Given the description of an element on the screen output the (x, y) to click on. 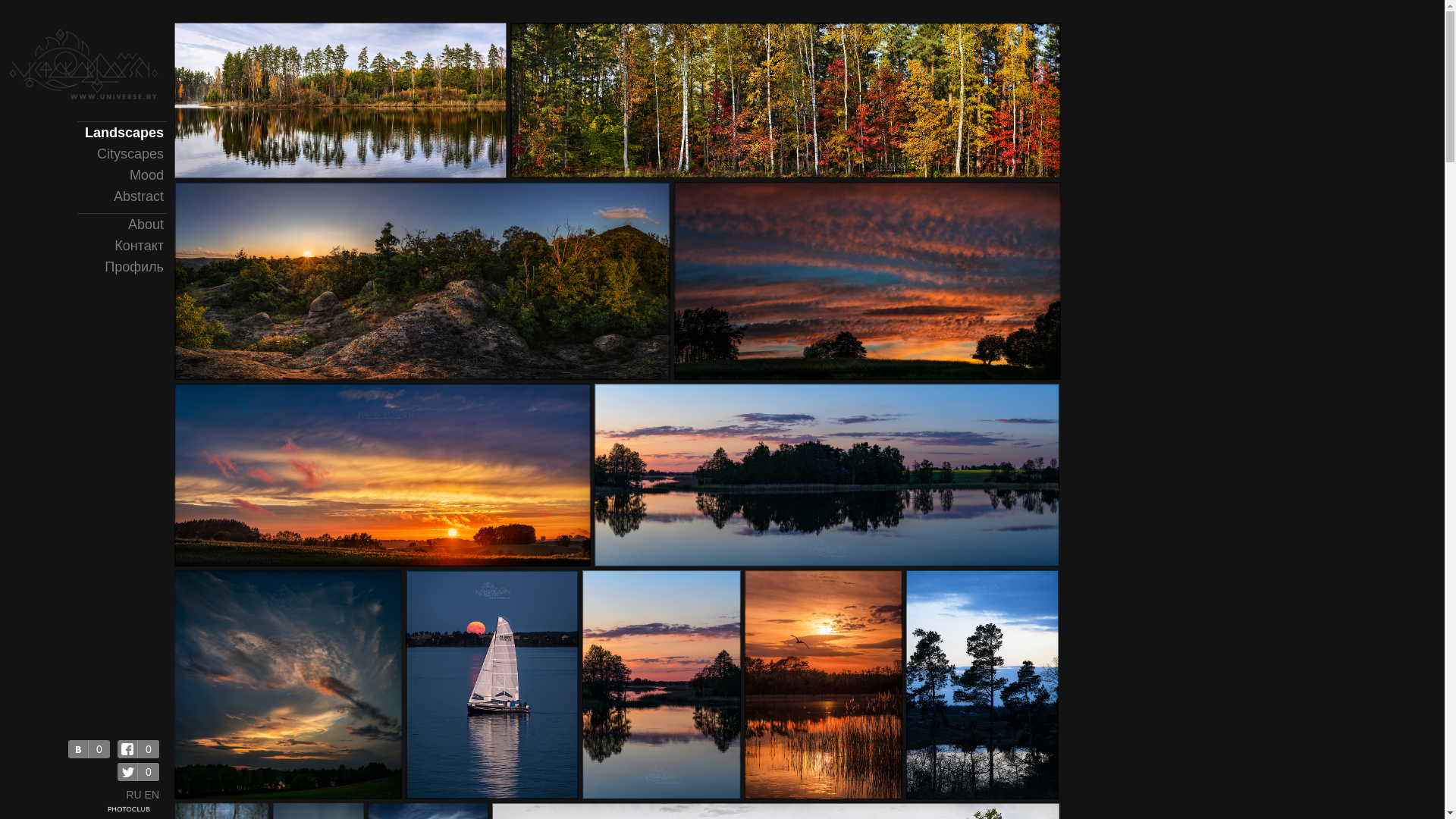
EN Element type: text (151, 794)
Mood Element type: text (124, 174)
0 Element type: text (88, 749)
Abstract Element type: text (124, 196)
0 Element type: text (138, 771)
Cityscapes Element type: text (124, 153)
RU Element type: text (133, 794)
0 Element type: text (138, 749)
About Element type: text (124, 224)
